Given the description of an element on the screen output the (x, y) to click on. 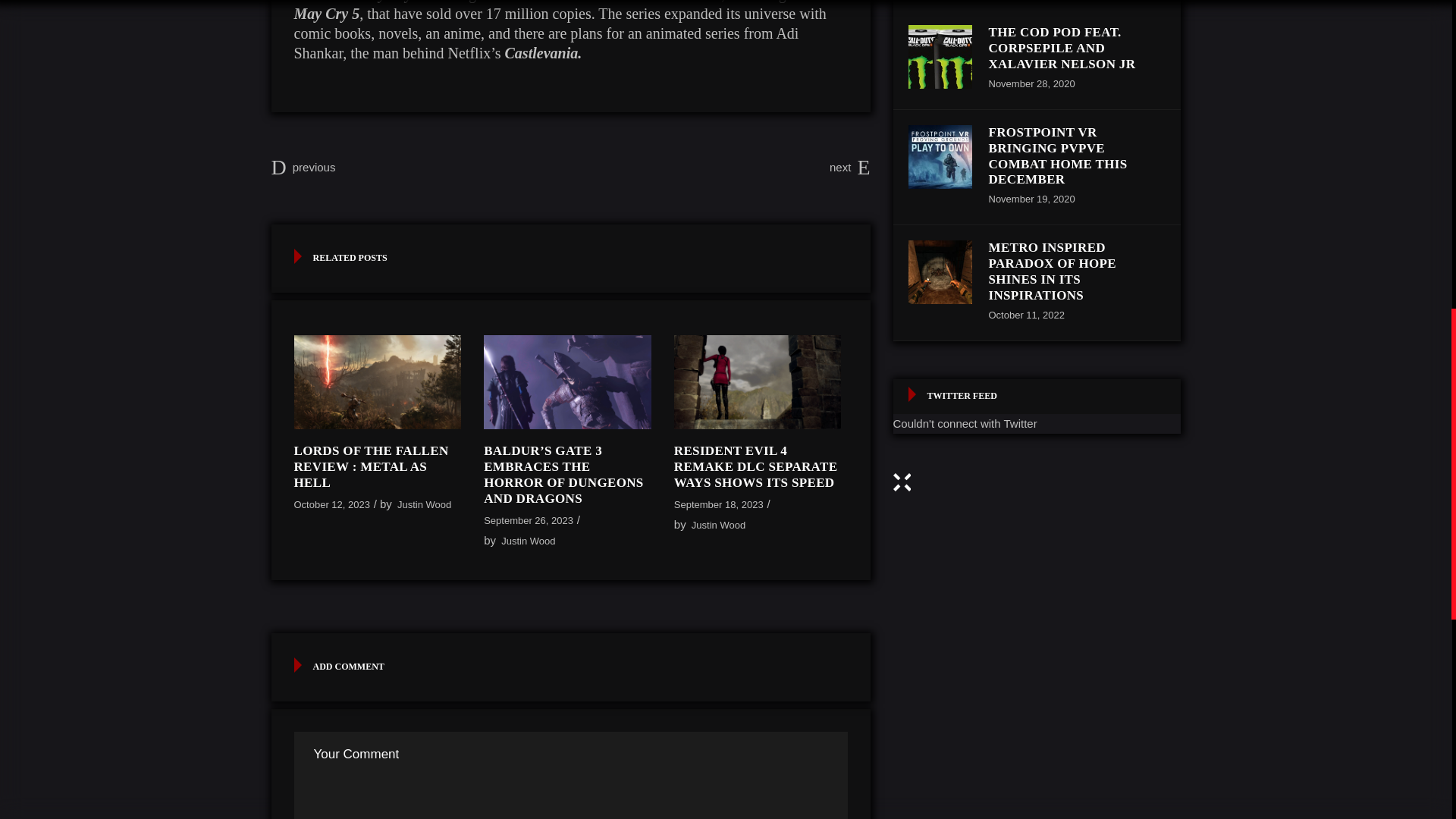
Frostpoint VR Bringing PvPvE Combat Home This December (940, 157)
The COD Pod feat. Corpsepile and Xalavier Nelson Jr (1061, 48)
The COD Pod feat. Corpsepile and Xalavier Nelson Jr (940, 56)
Resident Evil 4 Remake DLC Separate Ways Shows its speed (756, 466)
Frostpoint VR Bringing PvPvE Combat Home This December (1057, 156)
Resident Evil 4 Remake DLC Separate Ways Shows its speed (757, 381)
Lords of the Fallen Review : Metal as Hell (371, 466)
Lords of the Fallen Review : Metal as Hell (377, 381)
